Given the description of an element on the screen output the (x, y) to click on. 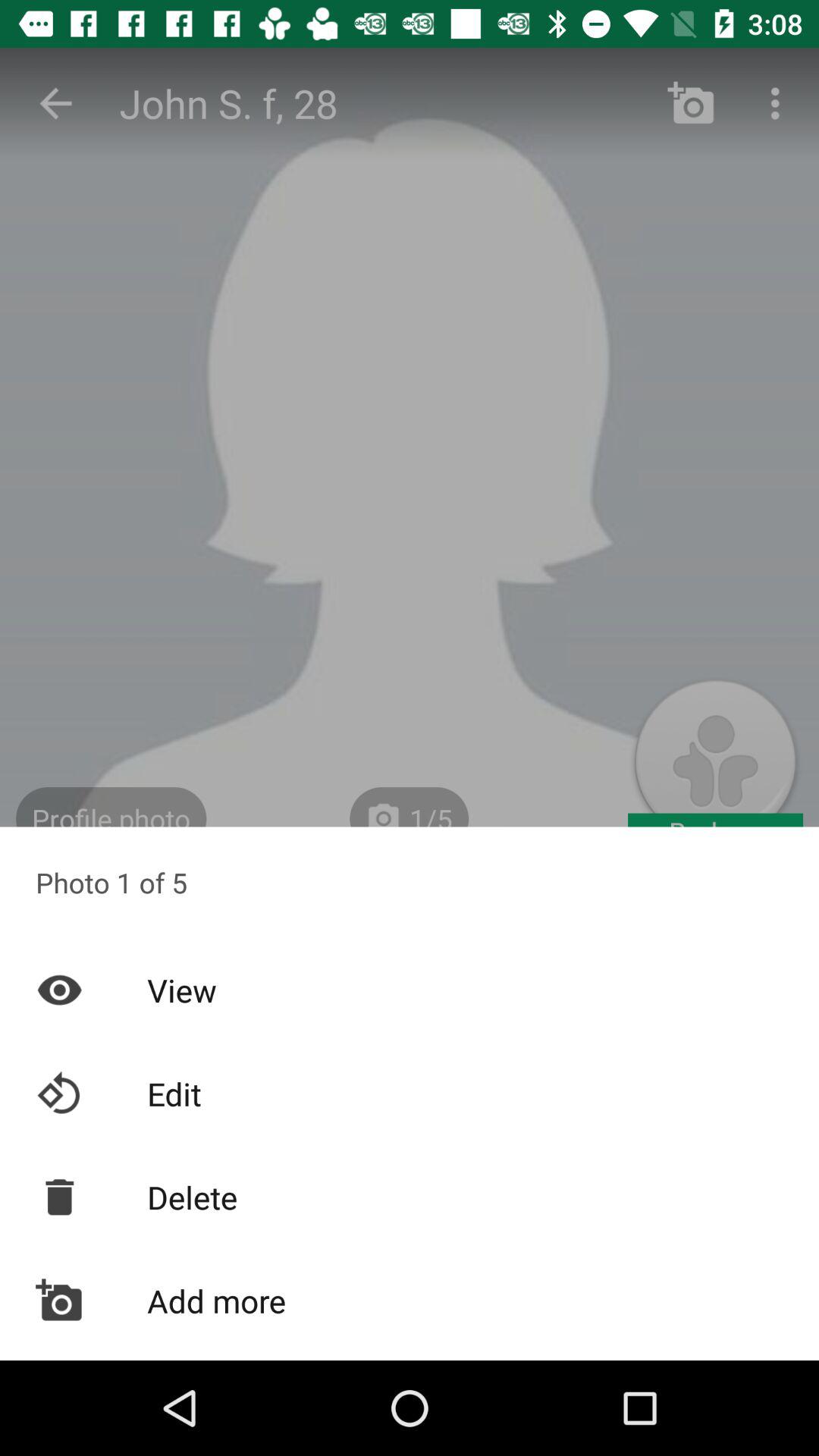
turn off the view item (409, 989)
